Given the description of an element on the screen output the (x, y) to click on. 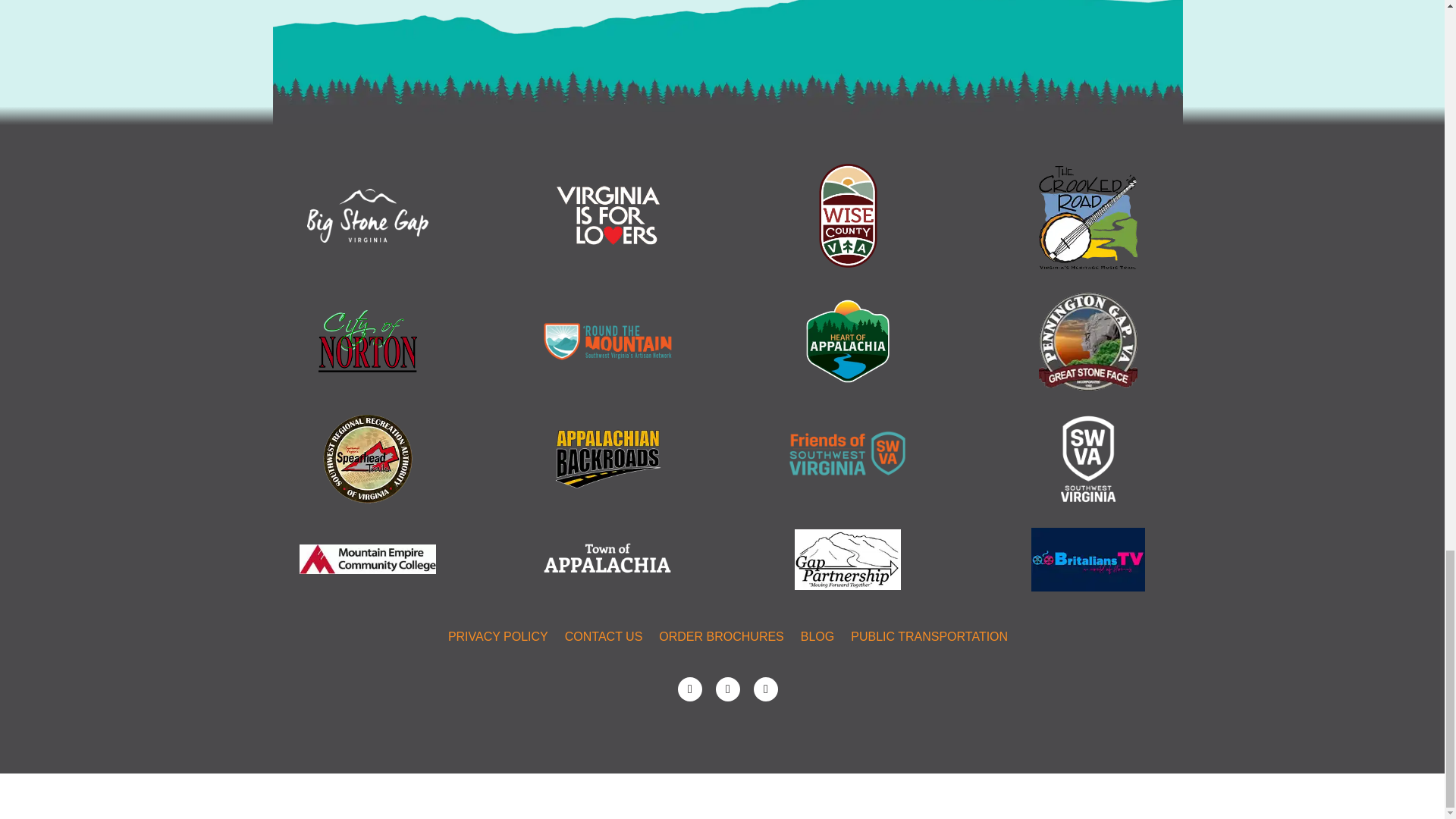
pennington-gap (1088, 340)
logo-header (847, 341)
logo-bsg-white (367, 215)
Spearhead-Trails-logo (367, 458)
norton (367, 341)
mecclogo-2.jpg (367, 559)
round-the-mountain (607, 341)
ABRLogo2019W5666 (607, 458)
Crooked-Road-Logo (1088, 218)
mountains (727, 62)
